Given the description of an element on the screen output the (x, y) to click on. 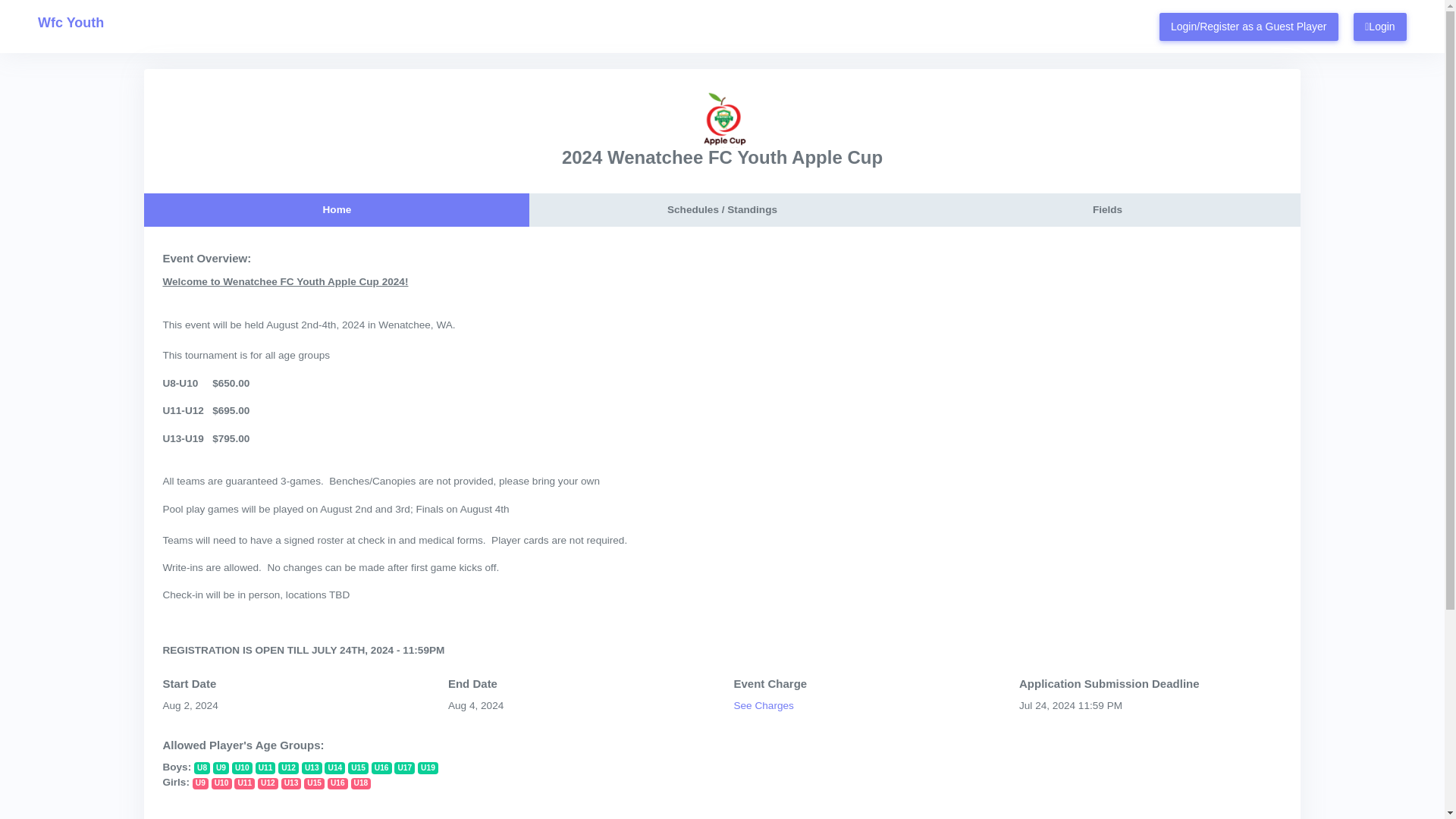
See Charges (763, 705)
Login (1380, 26)
Home (336, 209)
Wfc Youth (70, 23)
Fields (1107, 209)
